Given the description of an element on the screen output the (x, y) to click on. 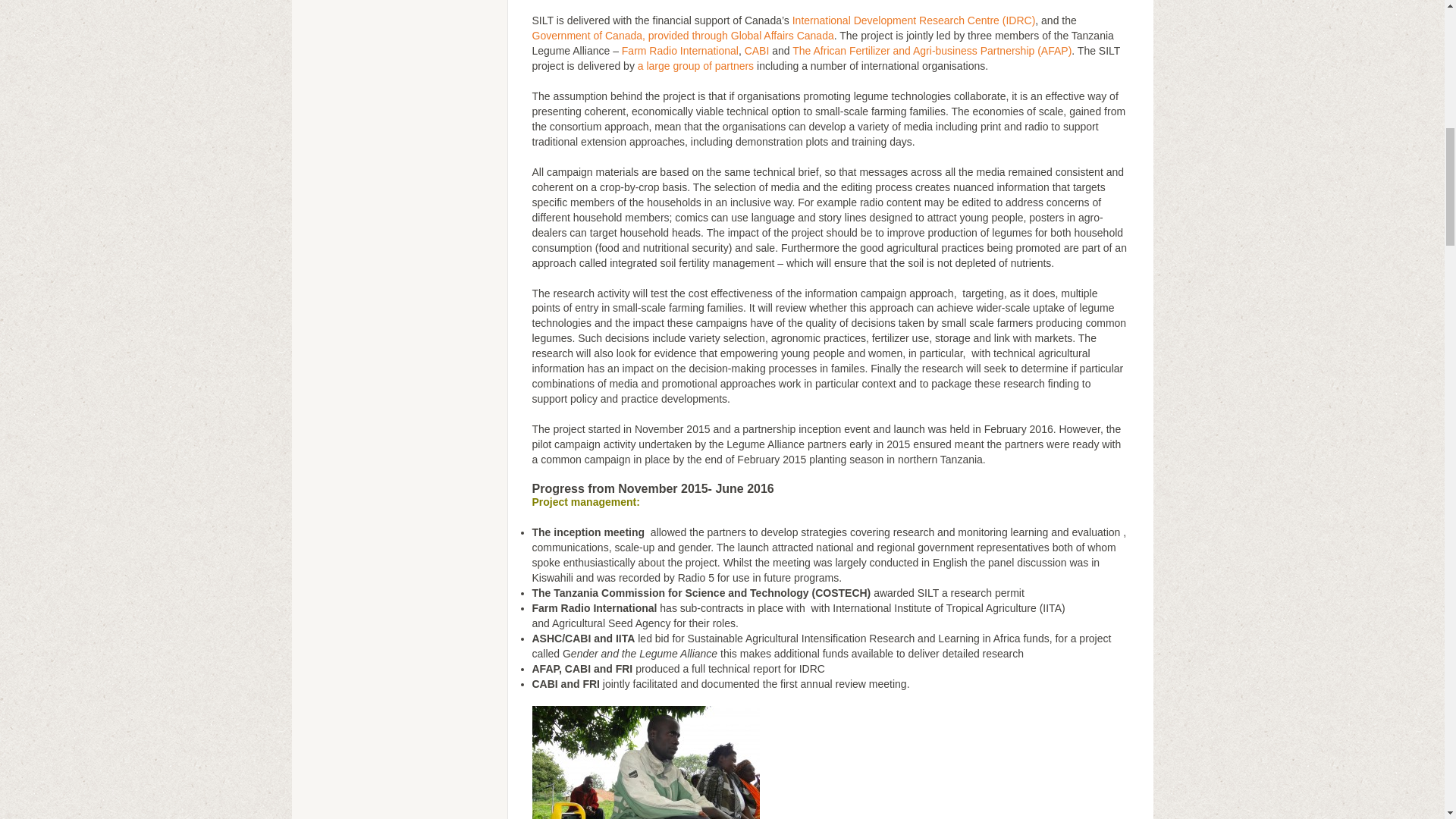
Farm Radio International (679, 50)
a large group of partners (695, 65)
Page 2 (830, 489)
CABI (757, 50)
Government of Canada, provided through Global Affairs Canada (683, 35)
Page 2 (830, 502)
